Given the description of an element on the screen output the (x, y) to click on. 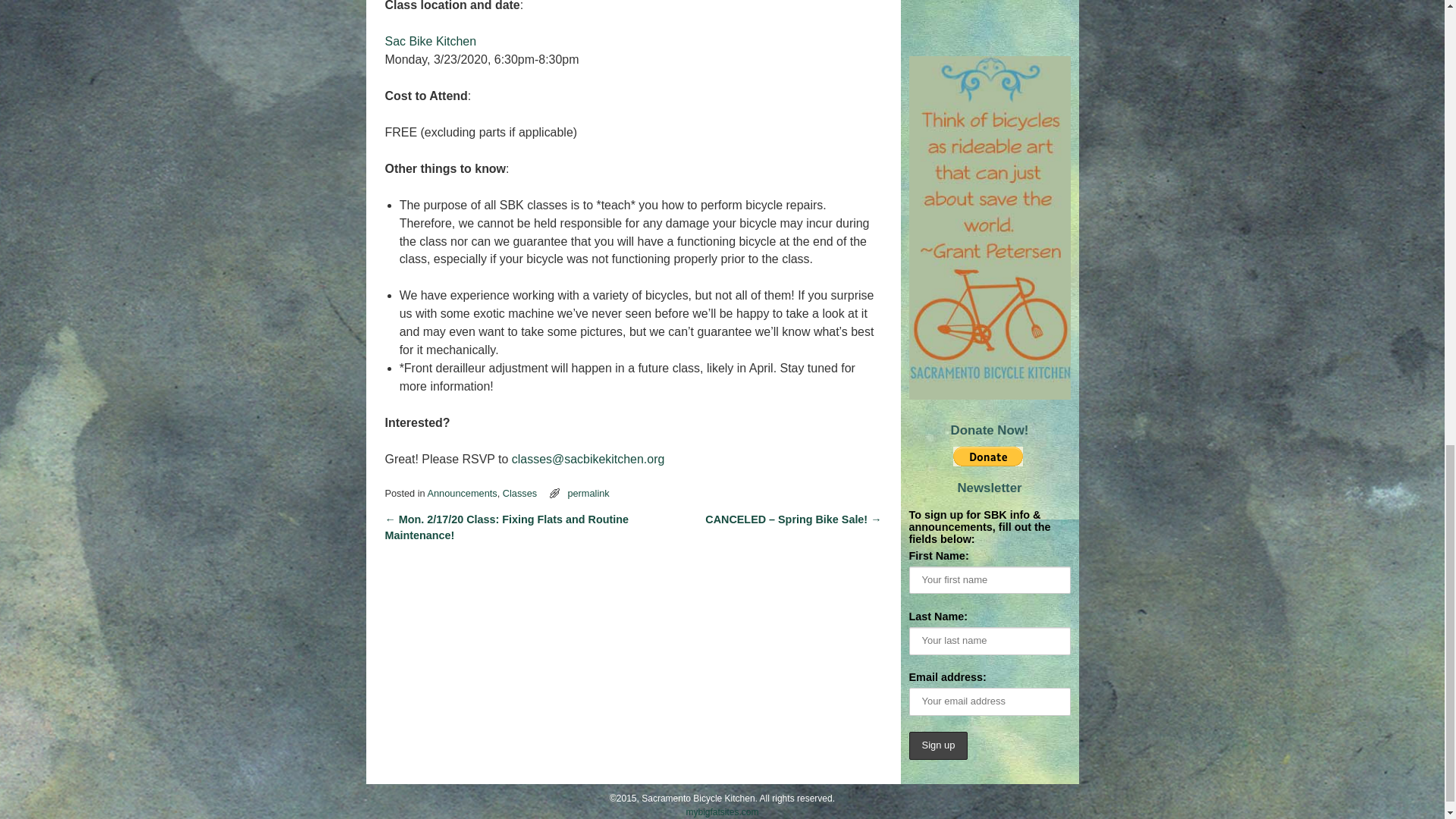
Announcements (462, 492)
Permalink to CANCELED-Upcoming Class: Drive Trains, Part 1 (587, 492)
Sign up (938, 746)
permalink (587, 492)
Sac Bike Kitchen (431, 41)
Classes (519, 492)
